Given the description of an element on the screen output the (x, y) to click on. 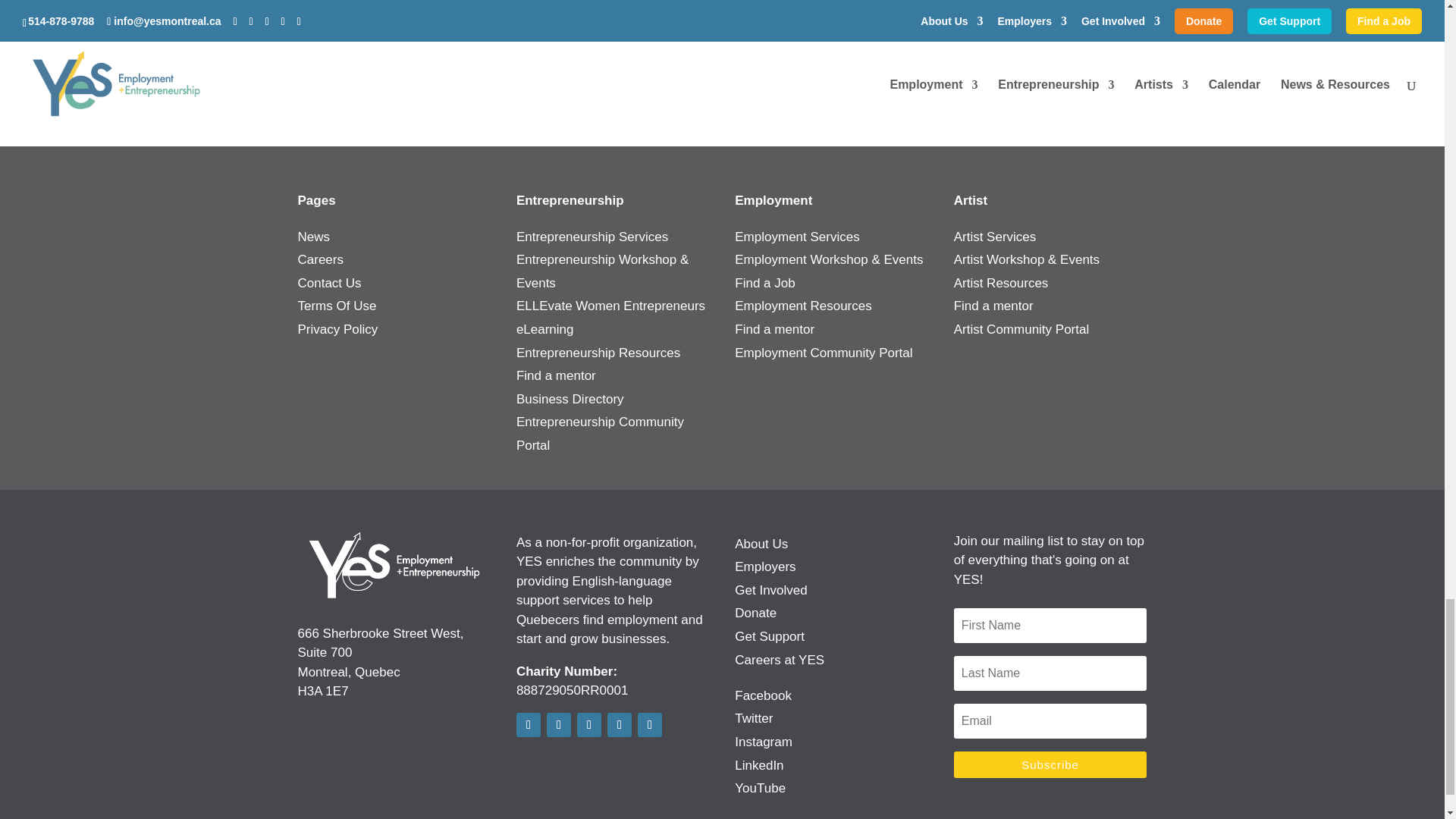
Follow on LinkedIn (619, 724)
Follow on X (558, 724)
Follow on Instagram (588, 724)
Follow on Facebook (528, 724)
YesLogo-FullName-White (393, 566)
Follow on Youtube (649, 724)
